Given the description of an element on the screen output the (x, y) to click on. 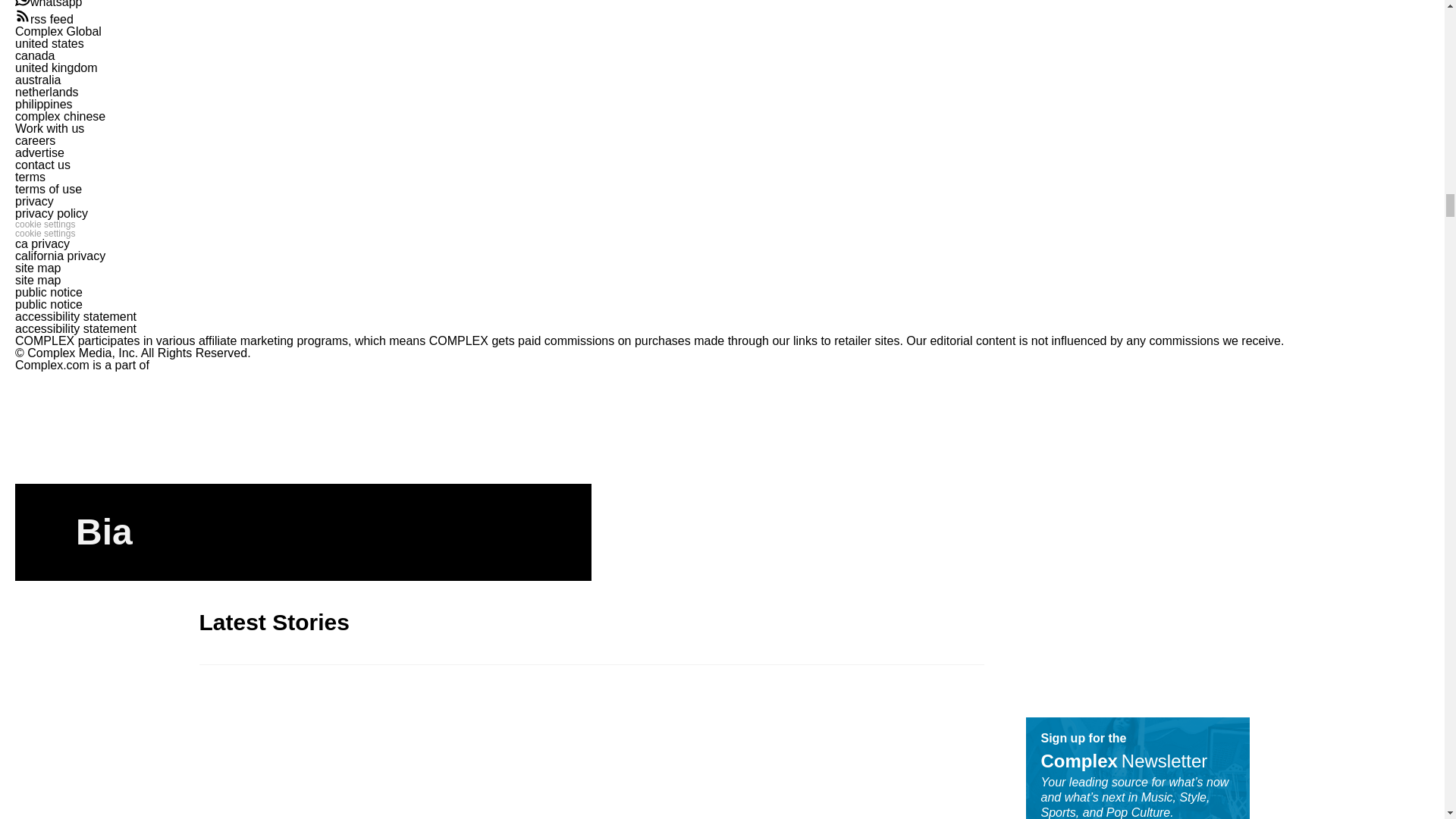
Complex Networks logo (52, 384)
RSS feed icon (22, 15)
WhatsApp icon (22, 2)
